Given the description of an element on the screen output the (x, y) to click on. 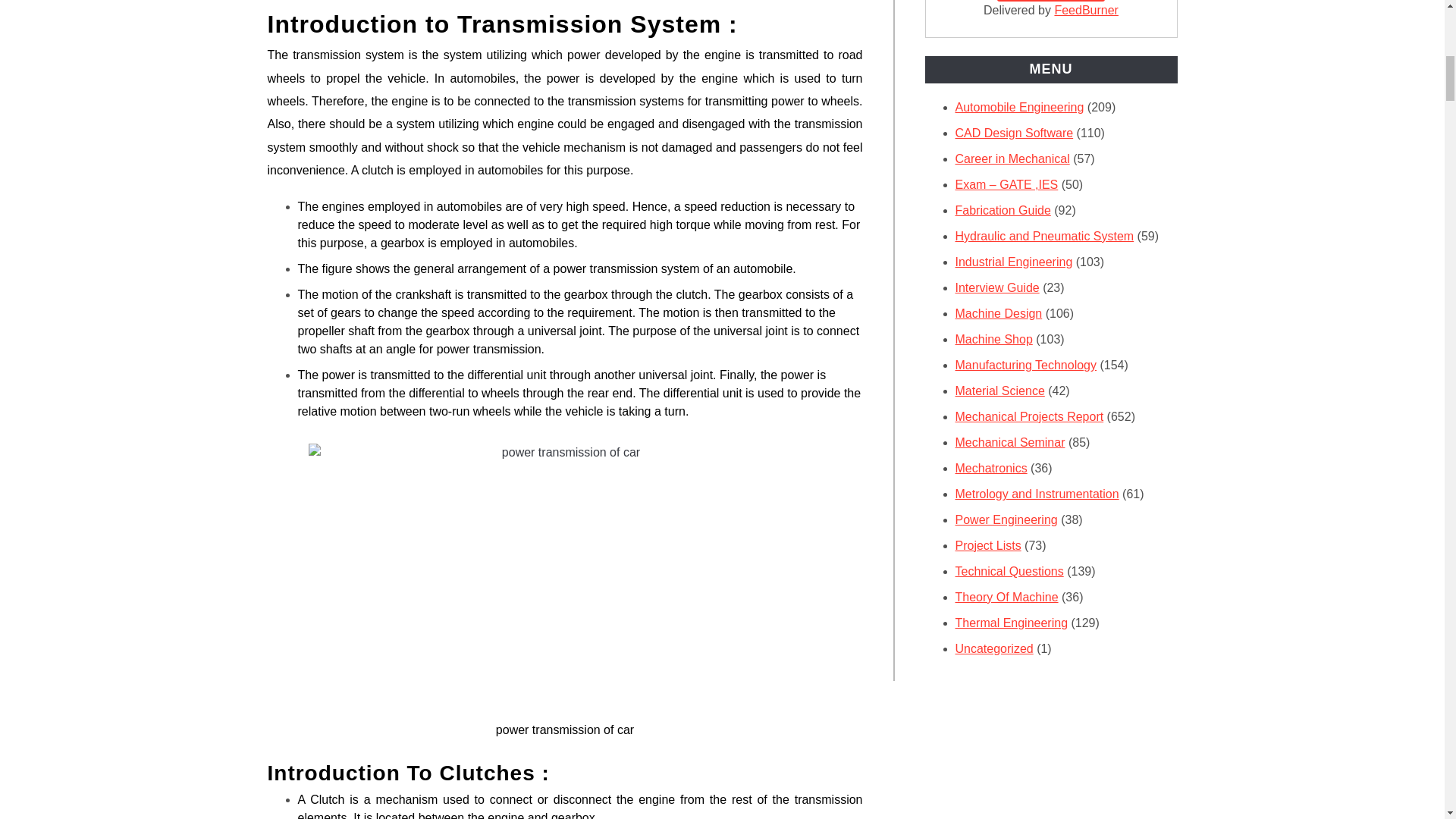
Subscribe (1050, 0)
